Given the description of an element on the screen output the (x, y) to click on. 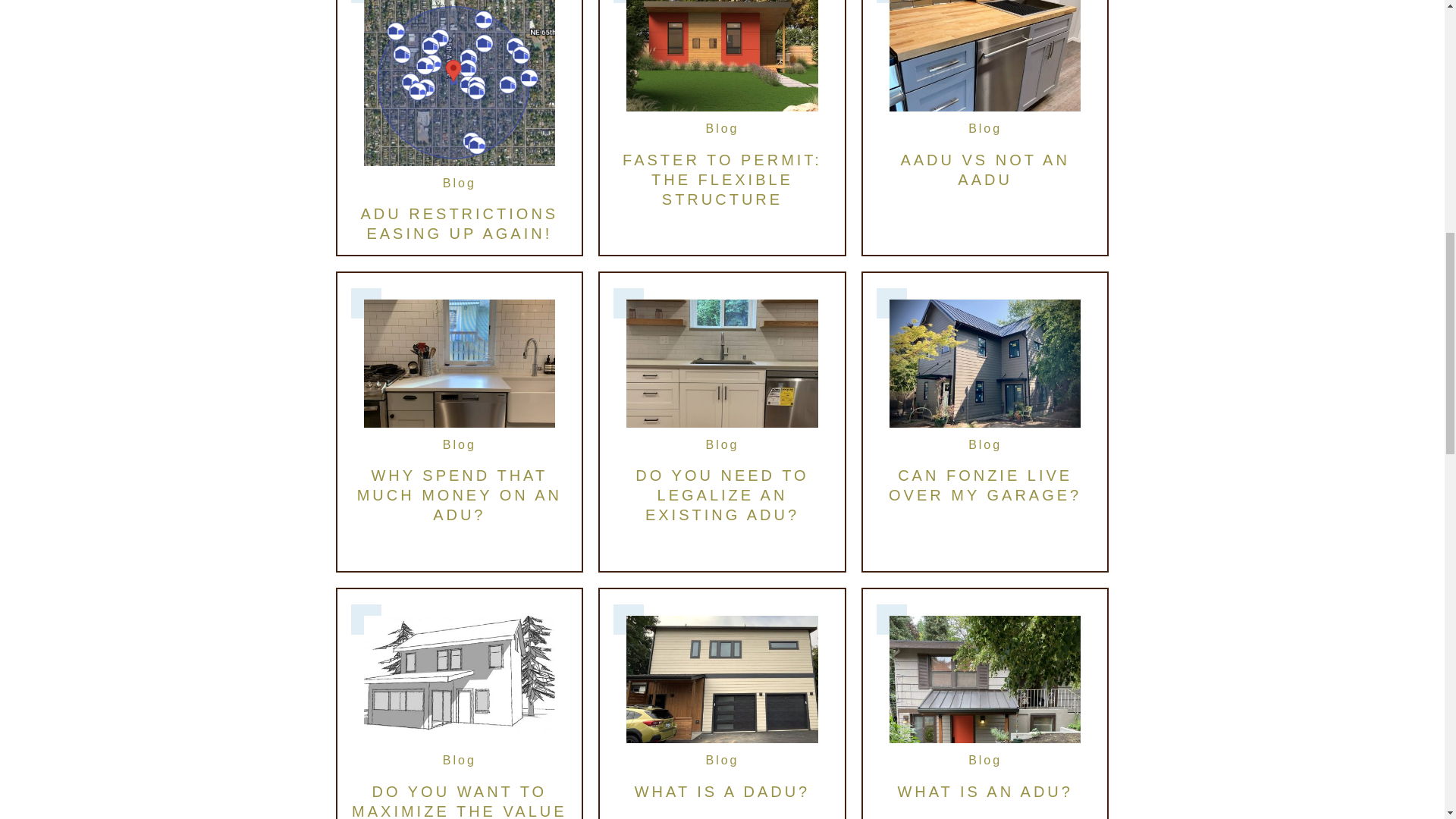
Blog (984, 128)
WHY SPEND THAT MUCH MONEY ON AN ADU? (459, 494)
AADU VS NOT AN AADU (983, 169)
ADU restrictions easing up again! (458, 223)
ADU restrictions easing up again! (460, 73)
Do You Need To Legalize an Existing ADU? (721, 494)
Blog (459, 182)
Blog (984, 444)
Faster to Permit: The Flexible Structure (722, 179)
AADU vs Not an AADU (985, 46)
FASTER TO PERMIT: THE FLEXIBLE STRUCTURE (722, 179)
ADU RESTRICTIONS EASING UP AGAIN! (458, 223)
Blog (459, 444)
Blog (721, 444)
CAN FONZIE LIVE OVER MY GARAGE? (984, 484)
